Given the description of an element on the screen output the (x, y) to click on. 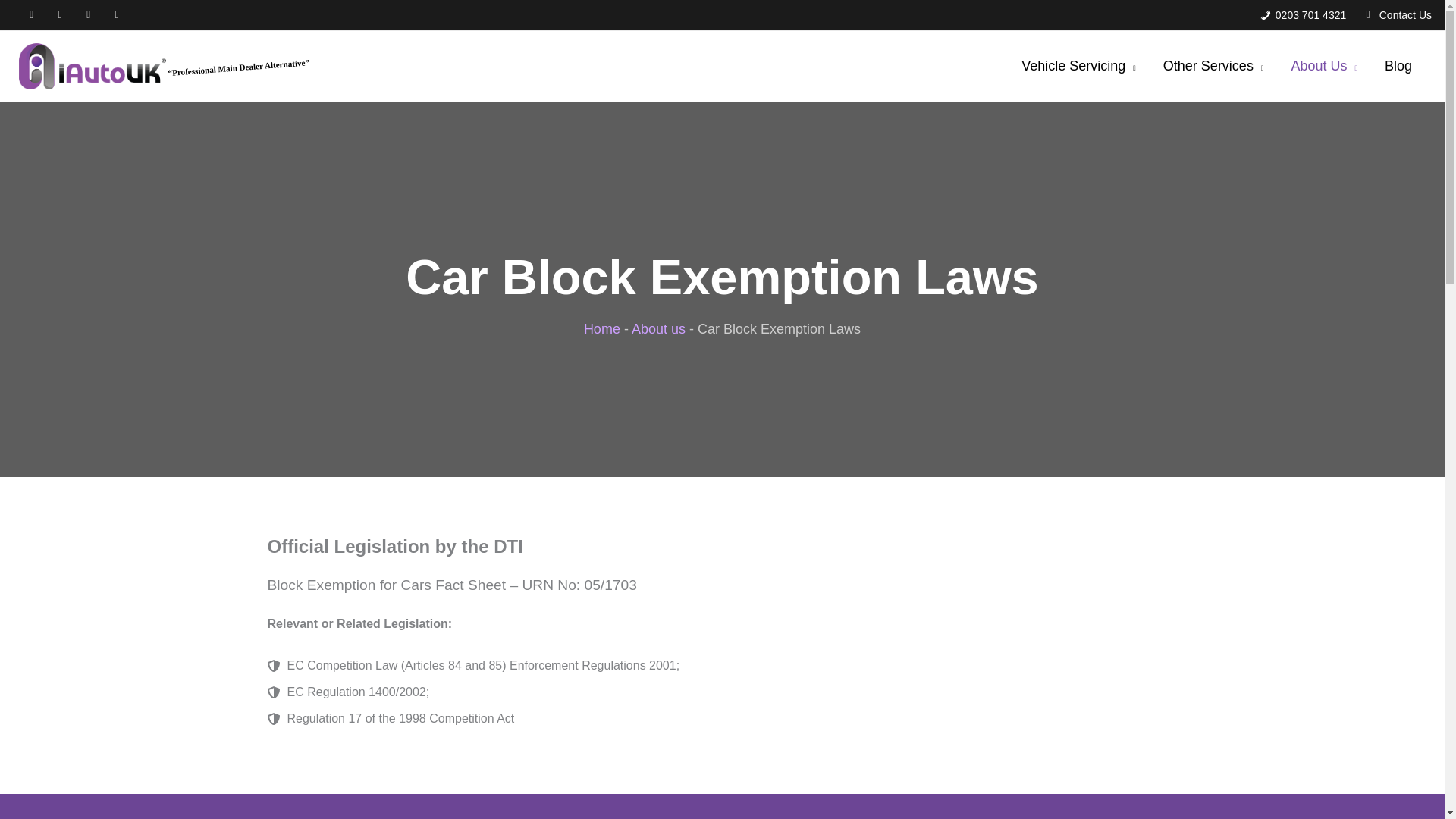
0203 701 4321 (1303, 15)
About Us (1323, 66)
Vehicle Servicing (1078, 66)
Contact Us (1396, 15)
Other Services (1214, 66)
